Given the description of an element on the screen output the (x, y) to click on. 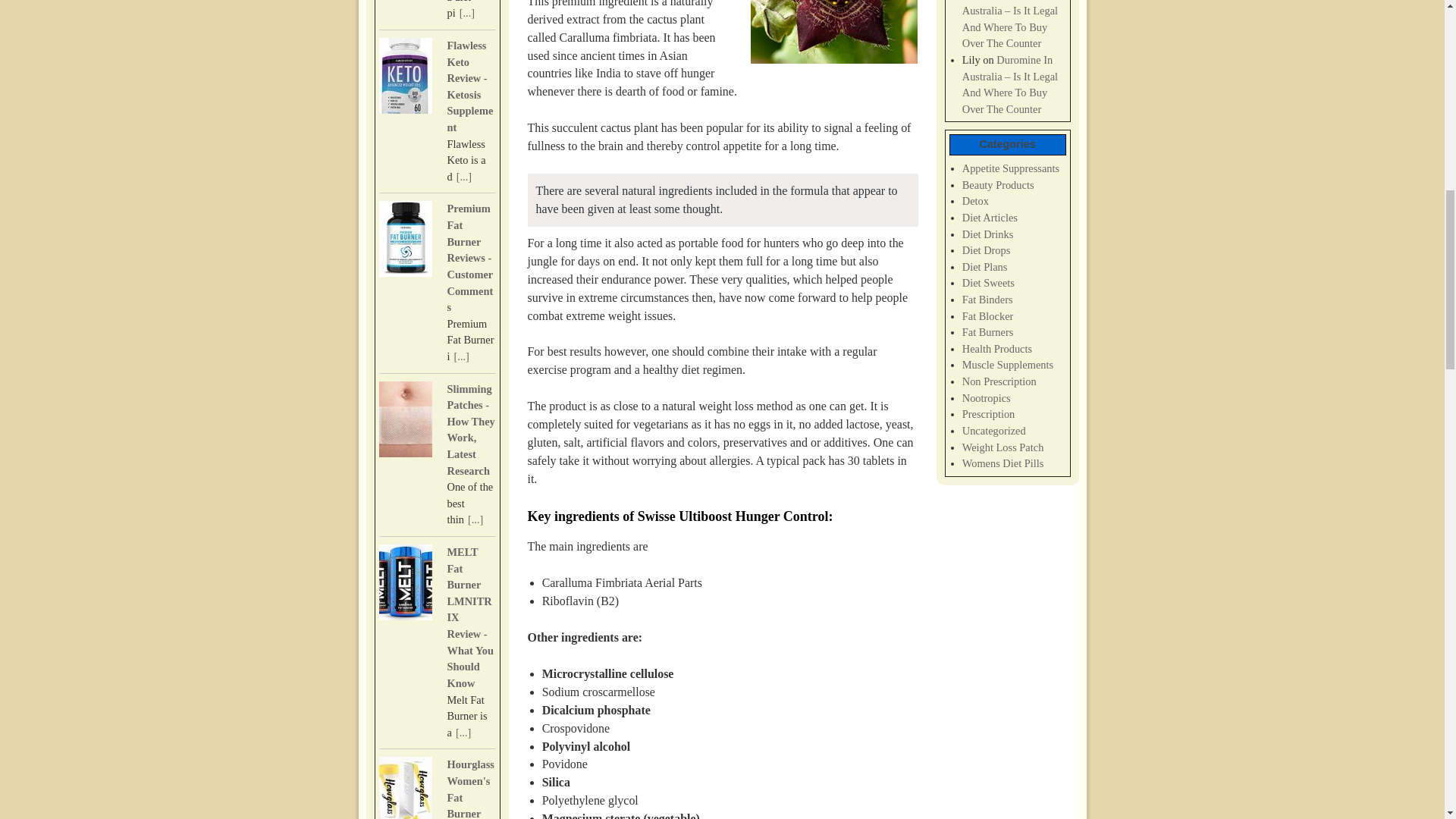
Slimming Patches - How They Work, Latest Research (470, 429)
Premium Fat Burner Reviews - Customer Comments (405, 240)
Flawless Keto Review - Ketosis Supplement (469, 86)
Flawless Keto Review - Ketosis Supplement (405, 77)
Flawless Keto Review - Ketosis Supplement (469, 86)
Zantrim Review - Stops snacking and binge eating (467, 12)
Premium Fat Burner Reviews - Customer Comments (469, 257)
Premium Fat Burner Reviews - Customer Comments (469, 257)
Flawless Keto Review - Ketosis Supplement (464, 176)
MELT Fat Burner LMNITRIX Review - What You Should Know (469, 617)
